Given the description of an element on the screen output the (x, y) to click on. 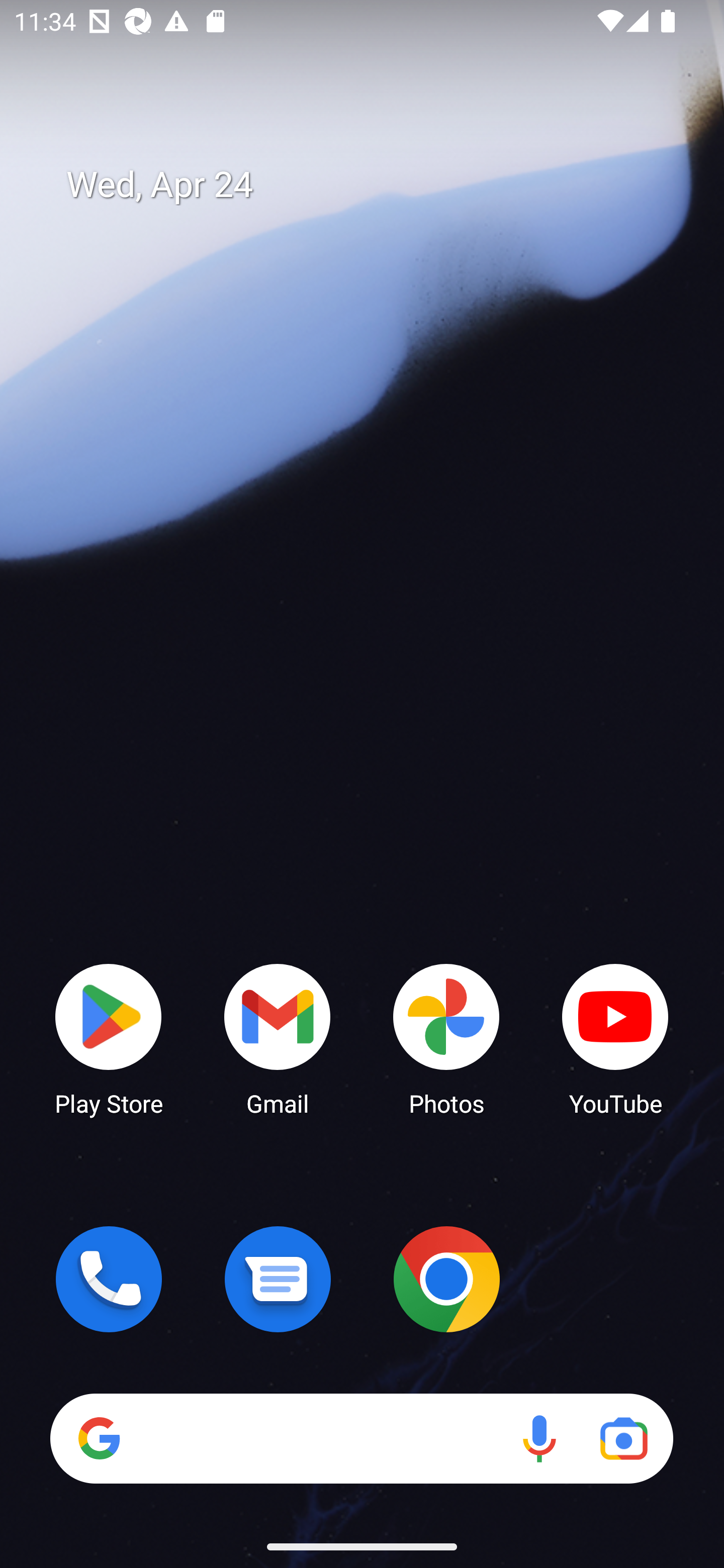
Wed, Apr 24 (375, 184)
Play Store (108, 1038)
Gmail (277, 1038)
Photos (445, 1038)
YouTube (615, 1038)
Phone (108, 1279)
Messages (277, 1279)
Chrome (446, 1279)
Search Voice search Google Lens (361, 1438)
Voice search (539, 1438)
Google Lens (623, 1438)
